Given the description of an element on the screen output the (x, y) to click on. 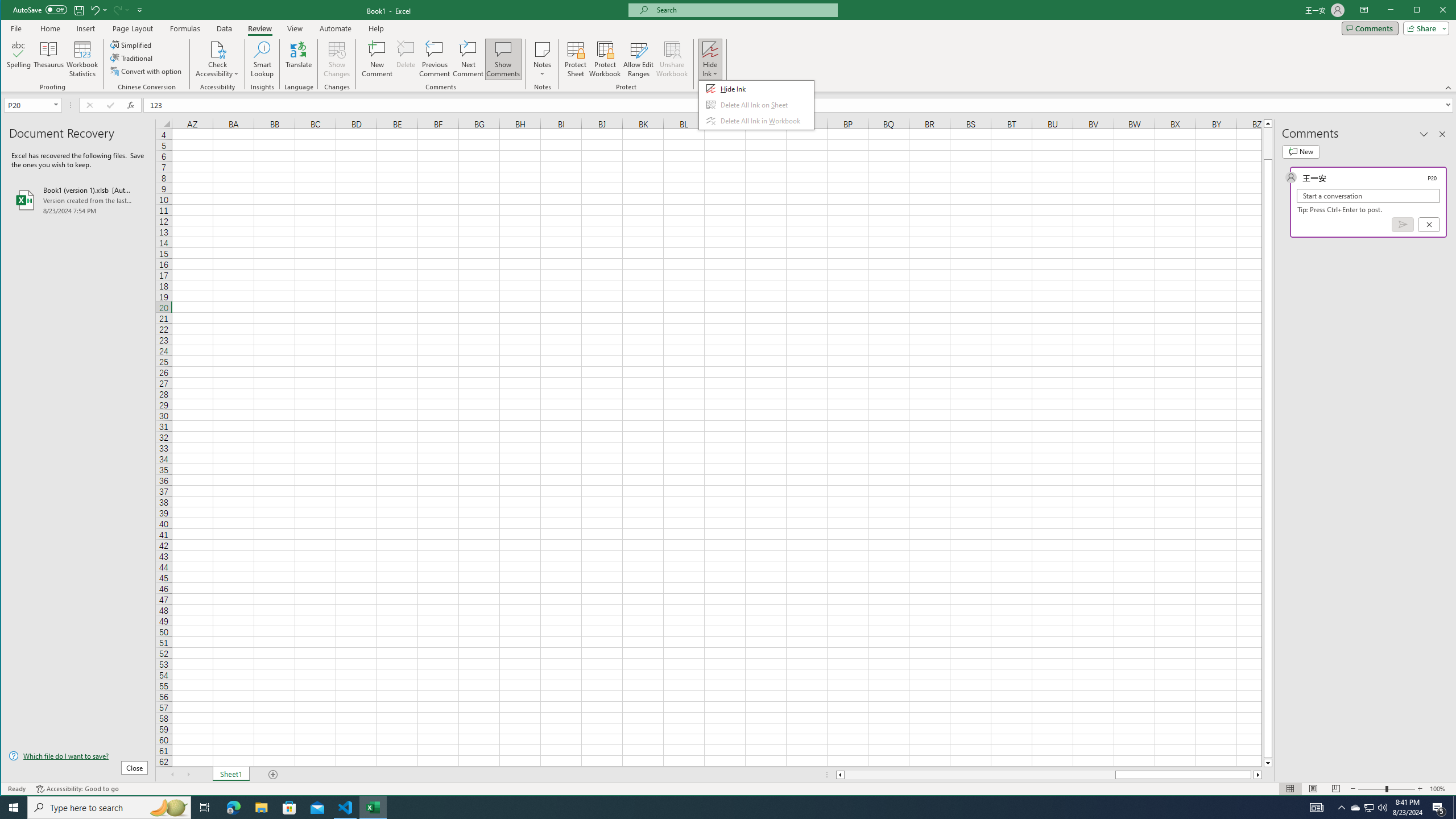
&Hide Ink (755, 105)
Thesaurus... (48, 59)
